Given the description of an element on the screen output the (x, y) to click on. 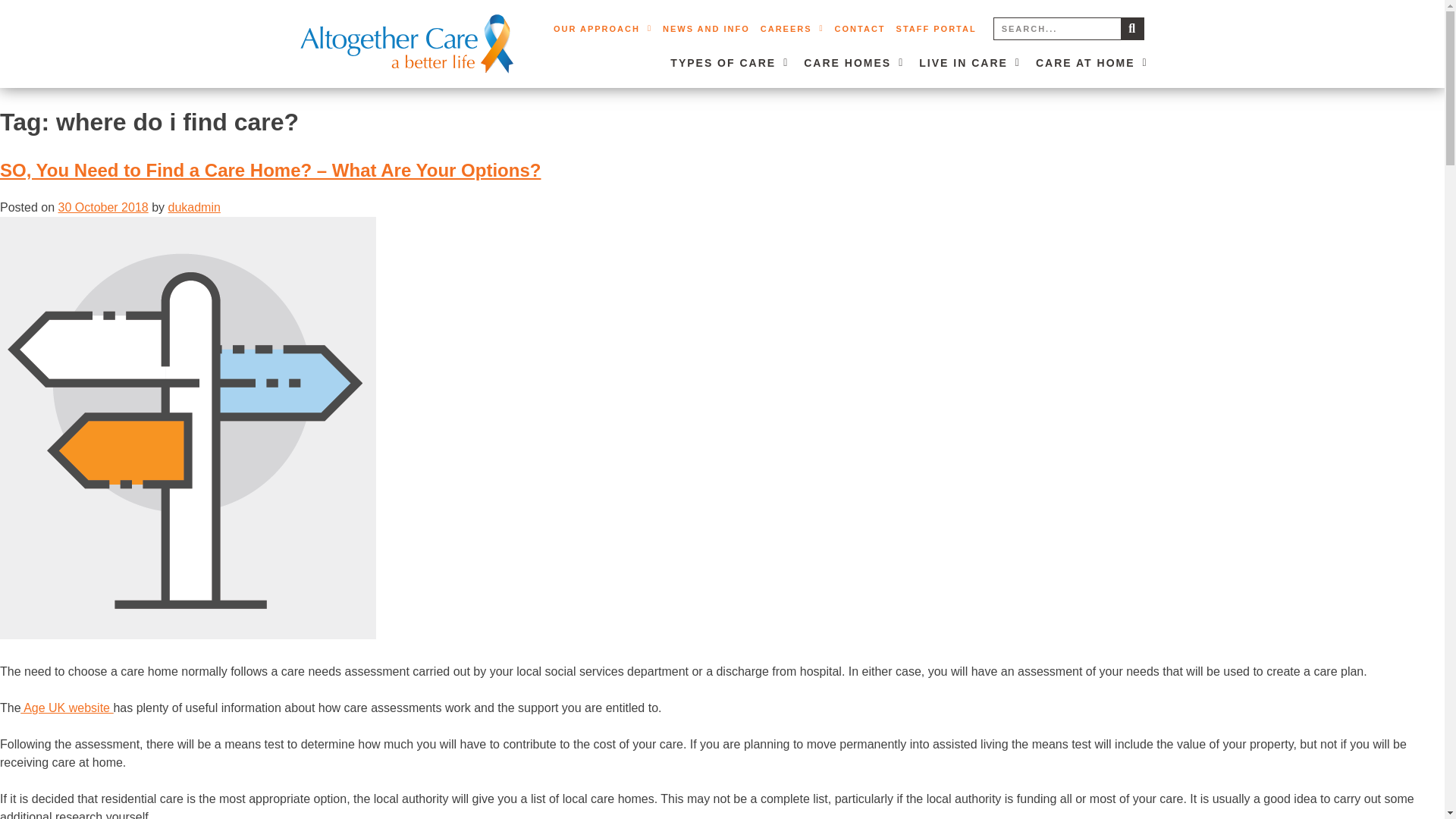
STAFF PORTAL (936, 28)
TYPES OF CARE (729, 62)
CONTACT (860, 28)
NEWS AND INFO (706, 28)
CARE HOMES (853, 62)
CAREERS (792, 28)
OUR APPROACH (603, 28)
